Given the description of an element on the screen output the (x, y) to click on. 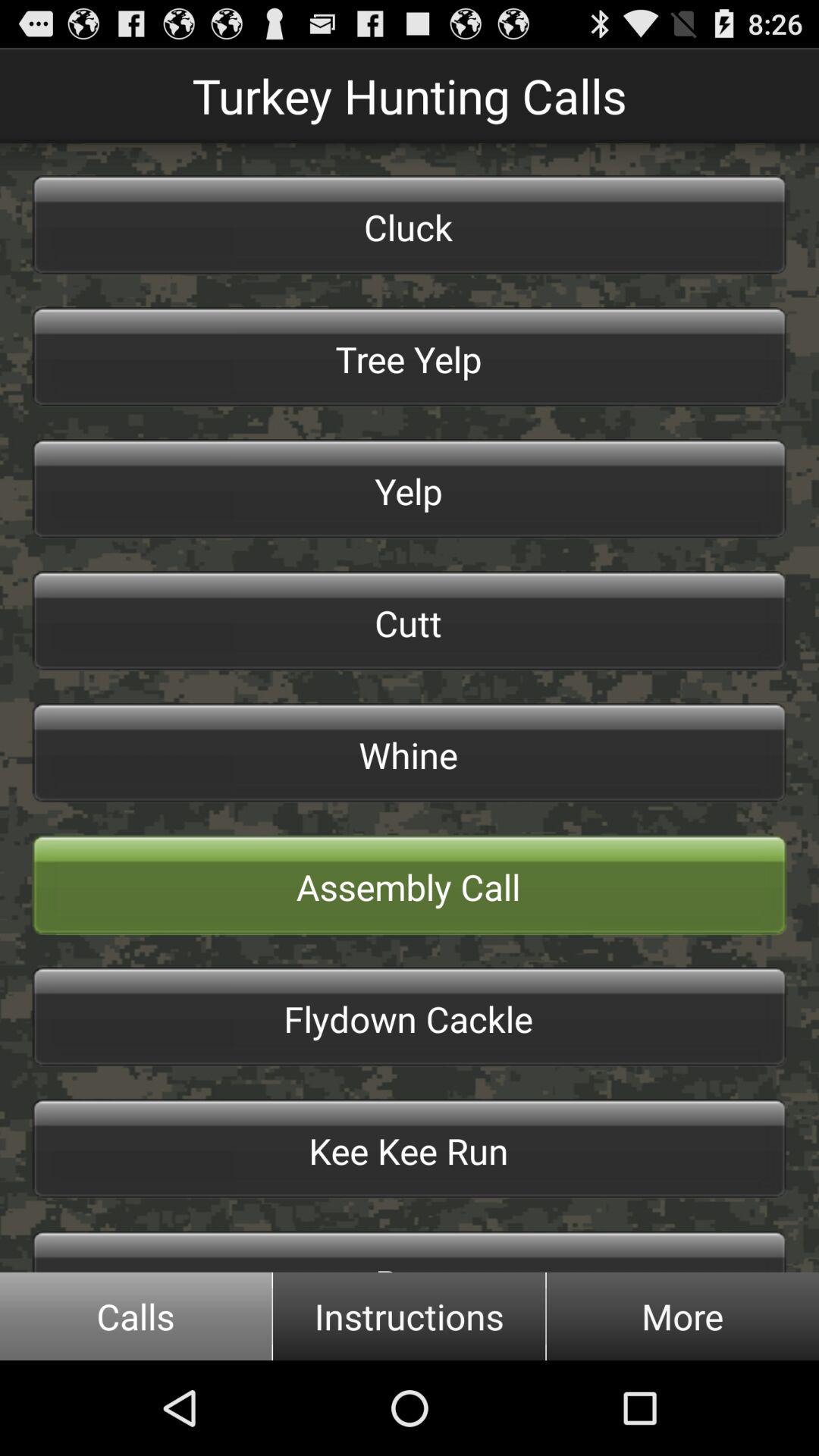
choose whine button (409, 752)
